Given the description of an element on the screen output the (x, y) to click on. 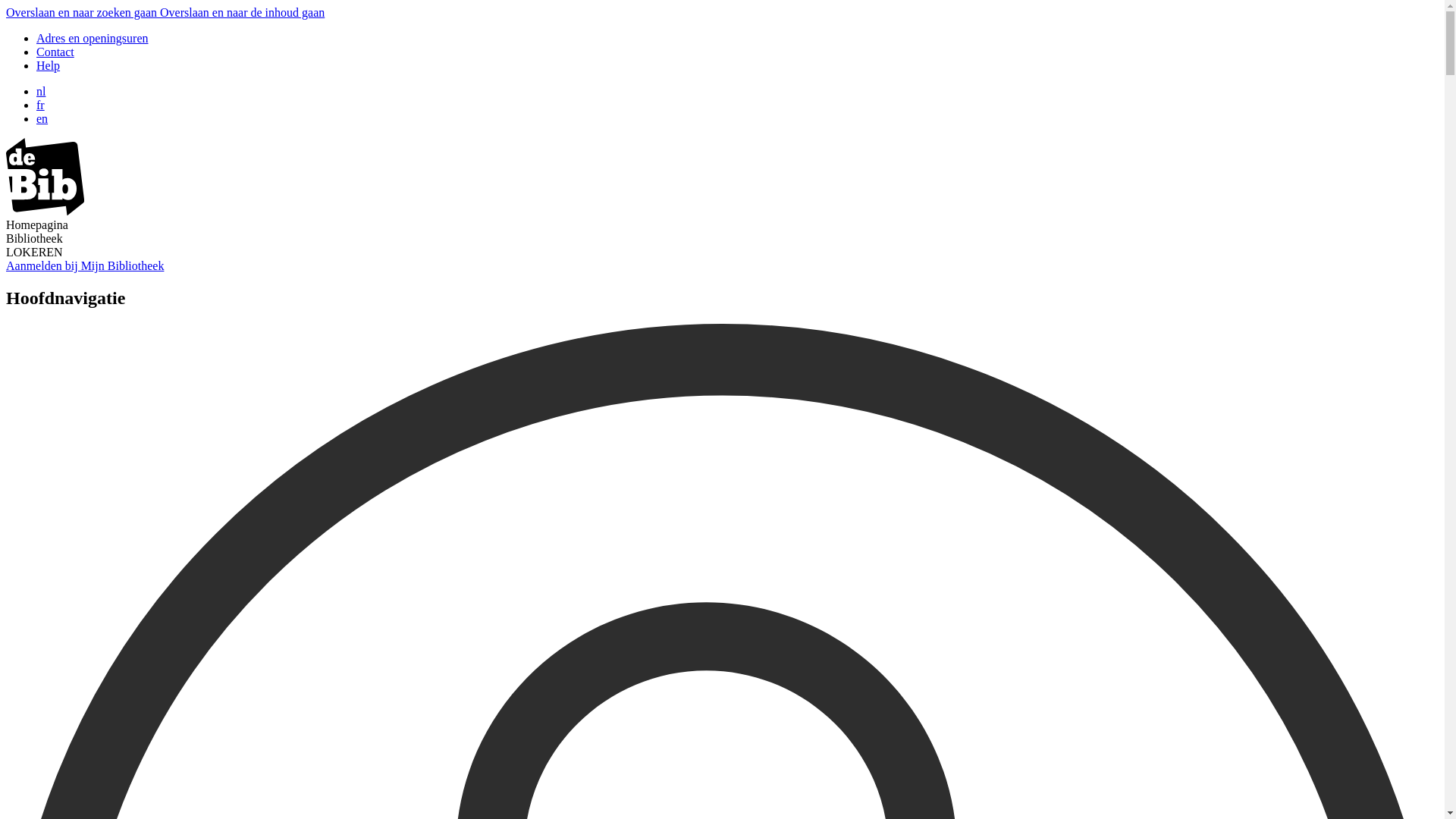
image/svg+xml Element type: text (45, 210)
Overslaan en naar zoeken gaan Element type: text (83, 12)
Aanmelden bij Mijn Bibliotheek Element type: text (84, 265)
Overslaan en naar de inhoud gaan Element type: text (242, 12)
Contact Element type: text (55, 51)
Help Element type: text (47, 65)
Adres en openingsuren Element type: text (92, 37)
en Element type: text (41, 118)
nl Element type: text (40, 90)
fr Element type: text (40, 104)
